Given the description of an element on the screen output the (x, y) to click on. 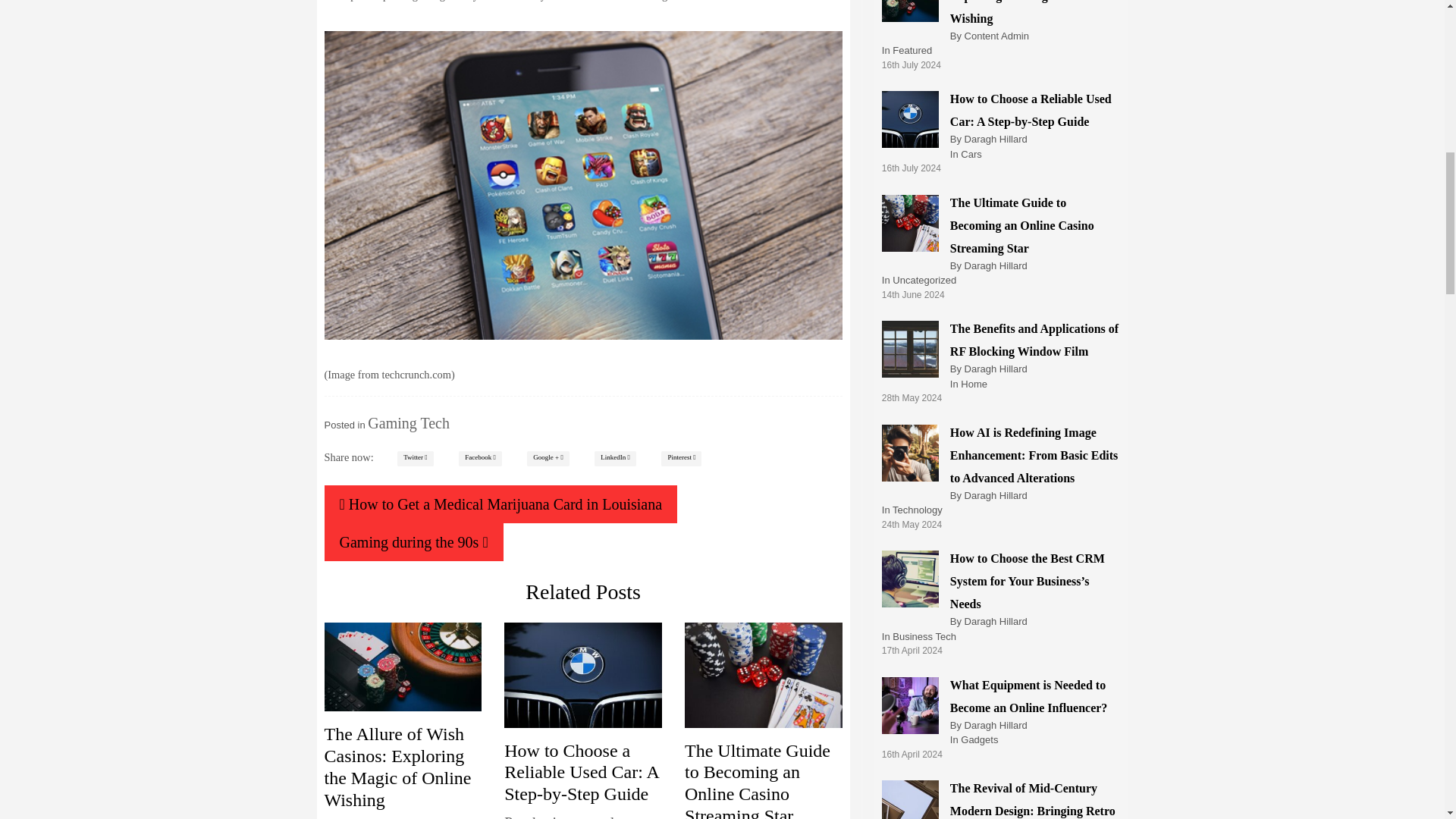
Pinterest (681, 458)
What Equipment is Needed to Become an Online Influencer? (1029, 694)
Gaming Tech (408, 422)
Facebook (480, 458)
